Given the description of an element on the screen output the (x, y) to click on. 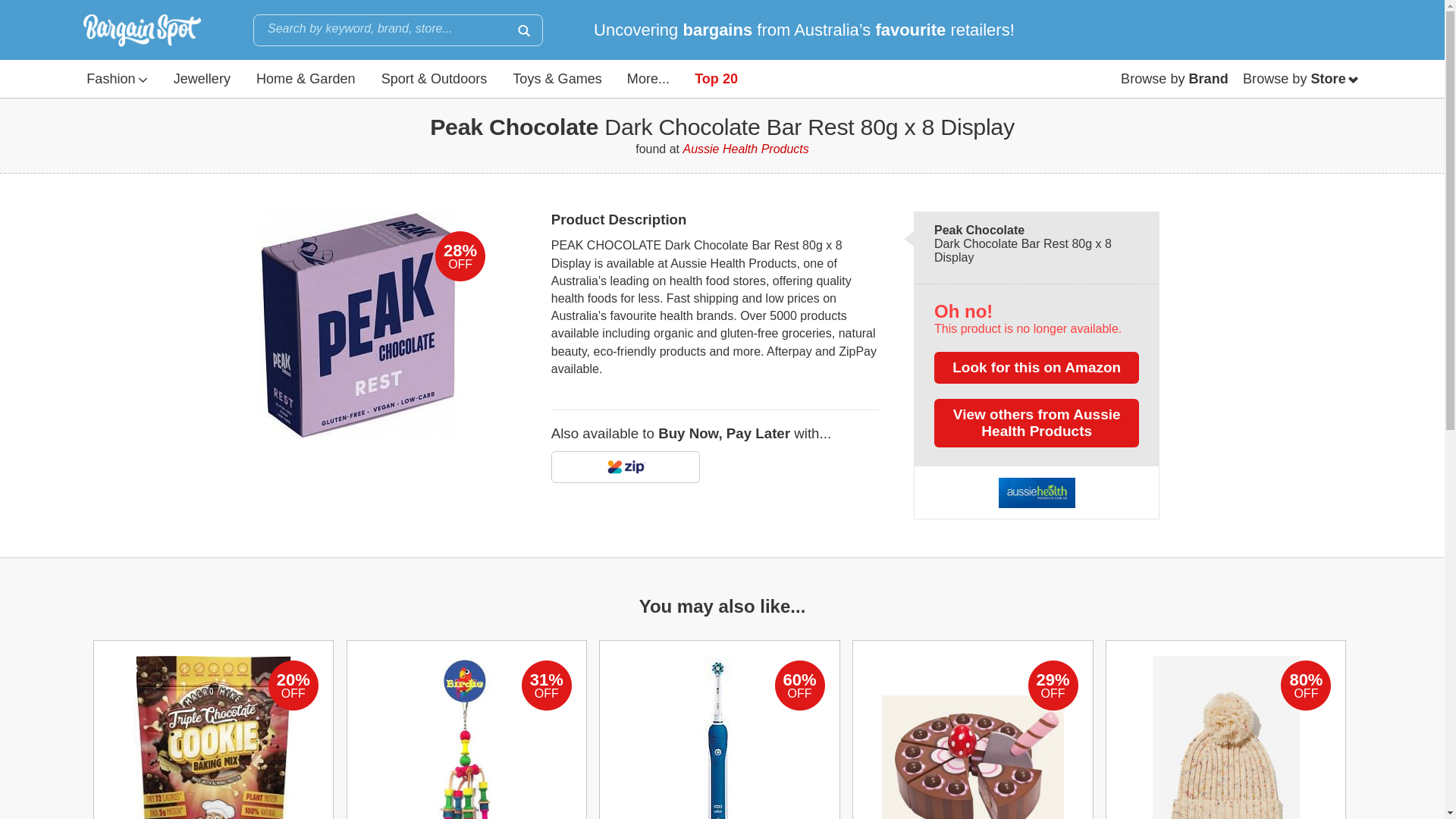
Top 20 (716, 78)
Jewellery (201, 78)
Browse by Brand (1174, 78)
zip pay (625, 467)
